Given the description of an element on the screen output the (x, y) to click on. 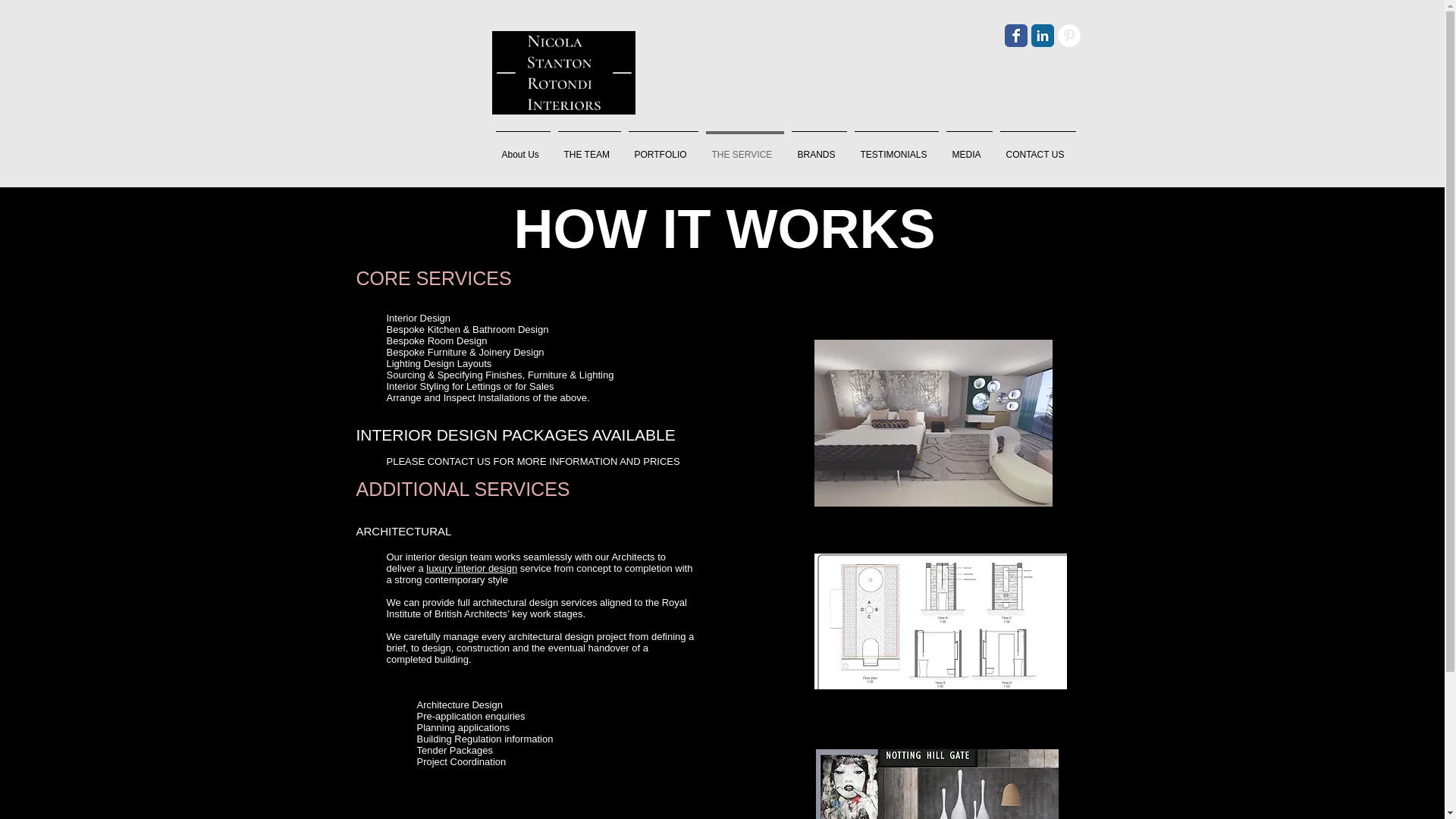
Image 14-08-2020 at 14.51.jpg (940, 621)
TESTIMONIALS (896, 147)
MEDIA (968, 147)
THE SERVICE (744, 147)
About Us (522, 147)
CONTACT US (1037, 147)
Bedroom 8 2.jpg (932, 422)
luxury interior design (471, 568)
BRANDS (818, 147)
